Given the description of an element on the screen output the (x, y) to click on. 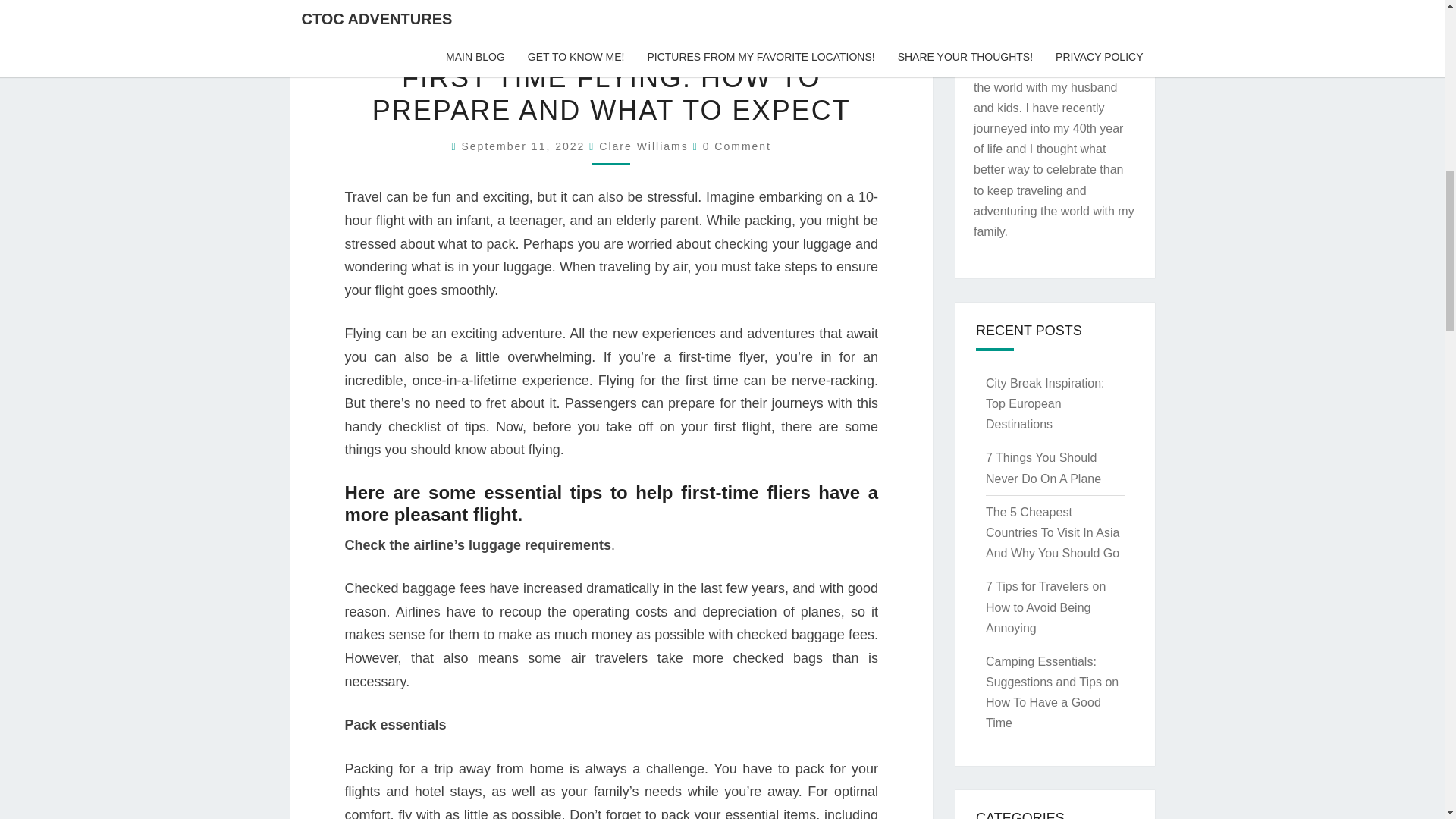
7 Things You Should Never Do On A Plane (1042, 467)
0 Comment (737, 146)
7 Tips for Travelers on How to Avoid Being Annoying (1045, 606)
September 11, 2022 (525, 146)
City Break Inspiration: Top European Destinations (1045, 403)
Clare Williams (642, 146)
View all posts by Clare Williams (642, 146)
8:46 am (525, 146)
